Given the description of an element on the screen output the (x, y) to click on. 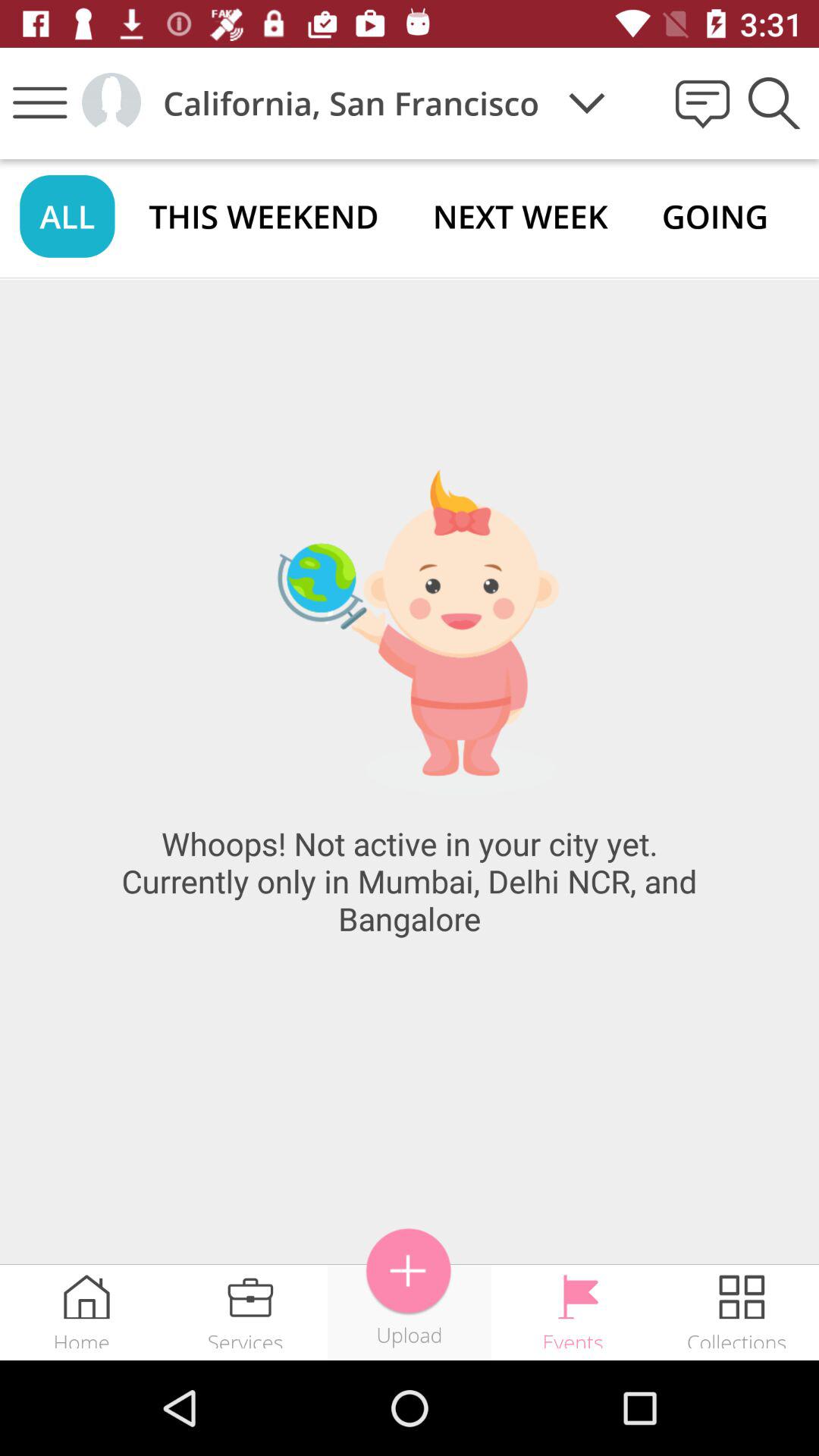
open icon next to services icon (408, 1271)
